Given the description of an element on the screen output the (x, y) to click on. 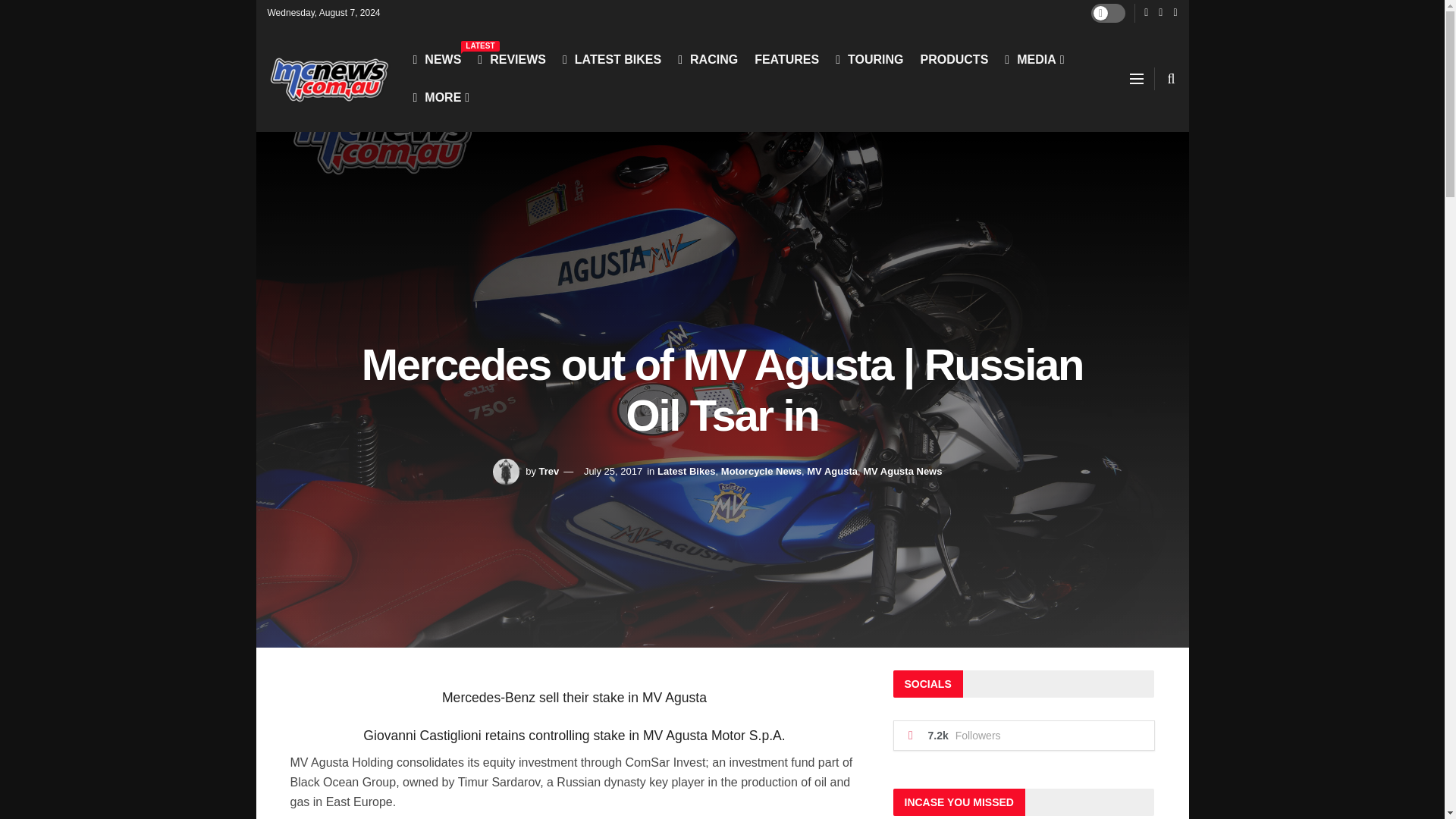
FEATURES (786, 59)
PRODUCTS (954, 59)
LATEST BIKES (611, 59)
REVIEWS (511, 59)
MEDIA (1032, 59)
MORE (439, 97)
TOURING (868, 59)
RACING (708, 59)
